Given the description of an element on the screen output the (x, y) to click on. 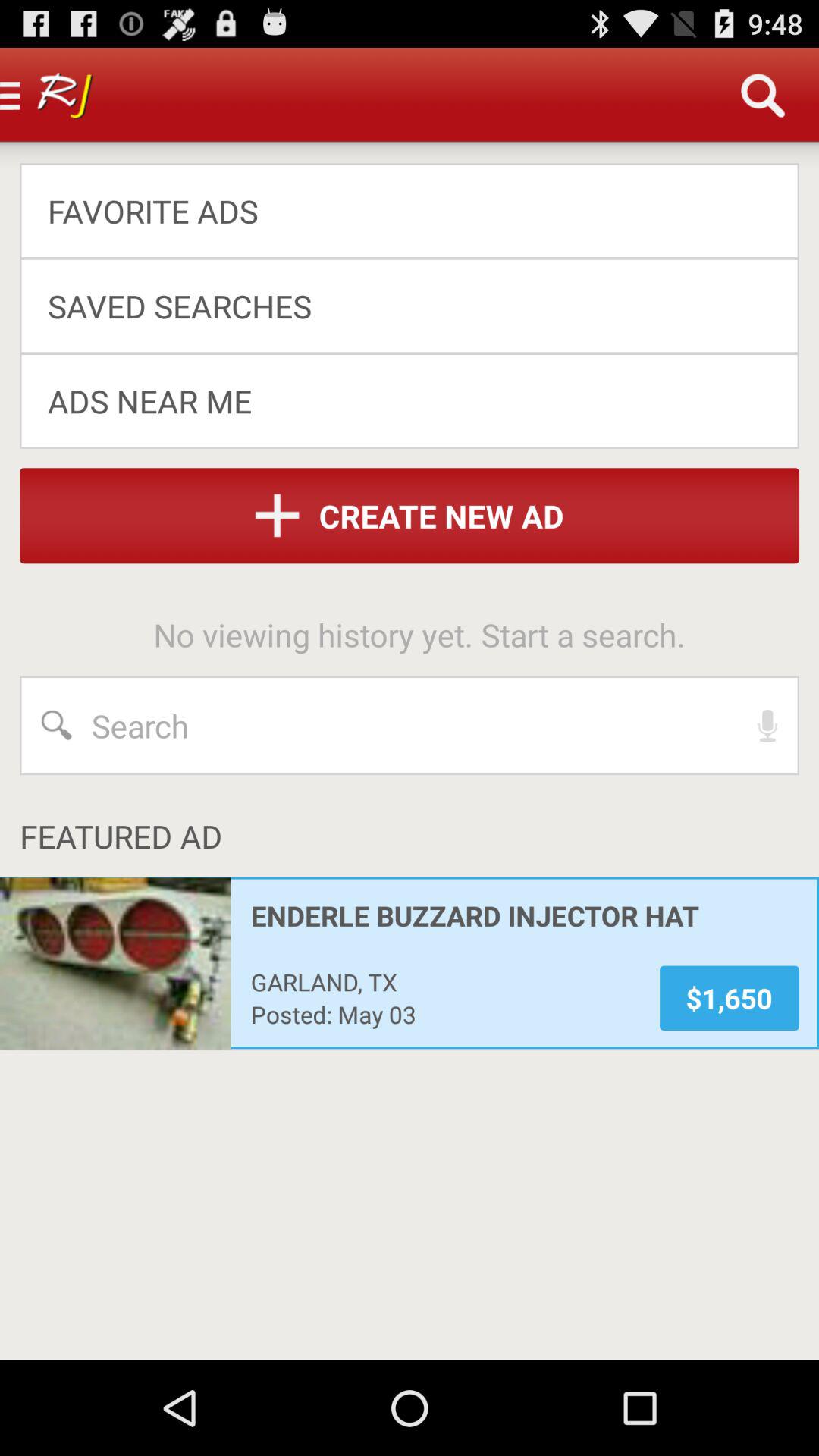
launch the icon below the no viewing history (767, 725)
